Given the description of an element on the screen output the (x, y) to click on. 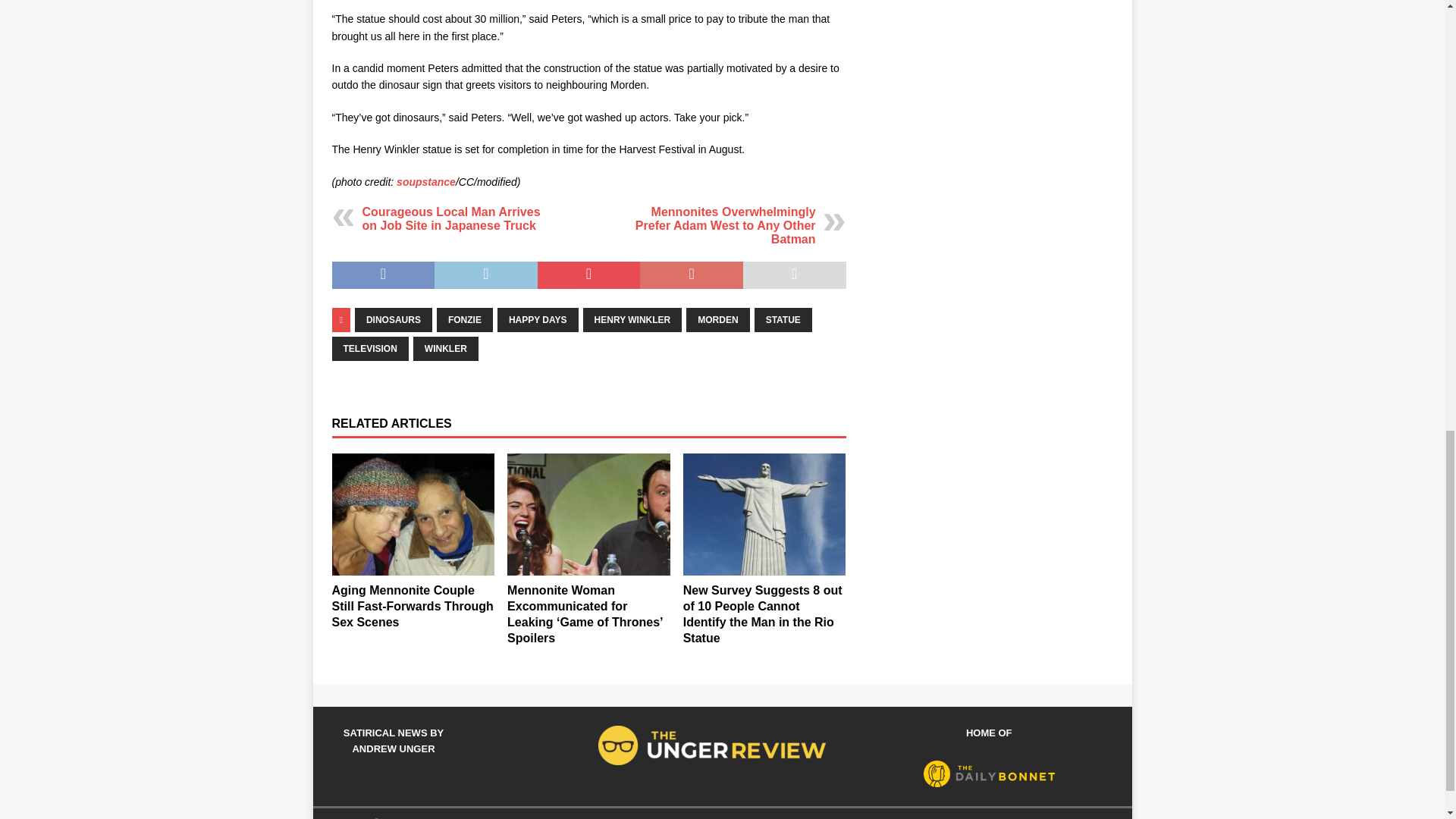
soupstance (424, 182)
Courageous Local Man Arrives on Job Site in Japanese Truck (451, 218)
